Given the description of an element on the screen output the (x, y) to click on. 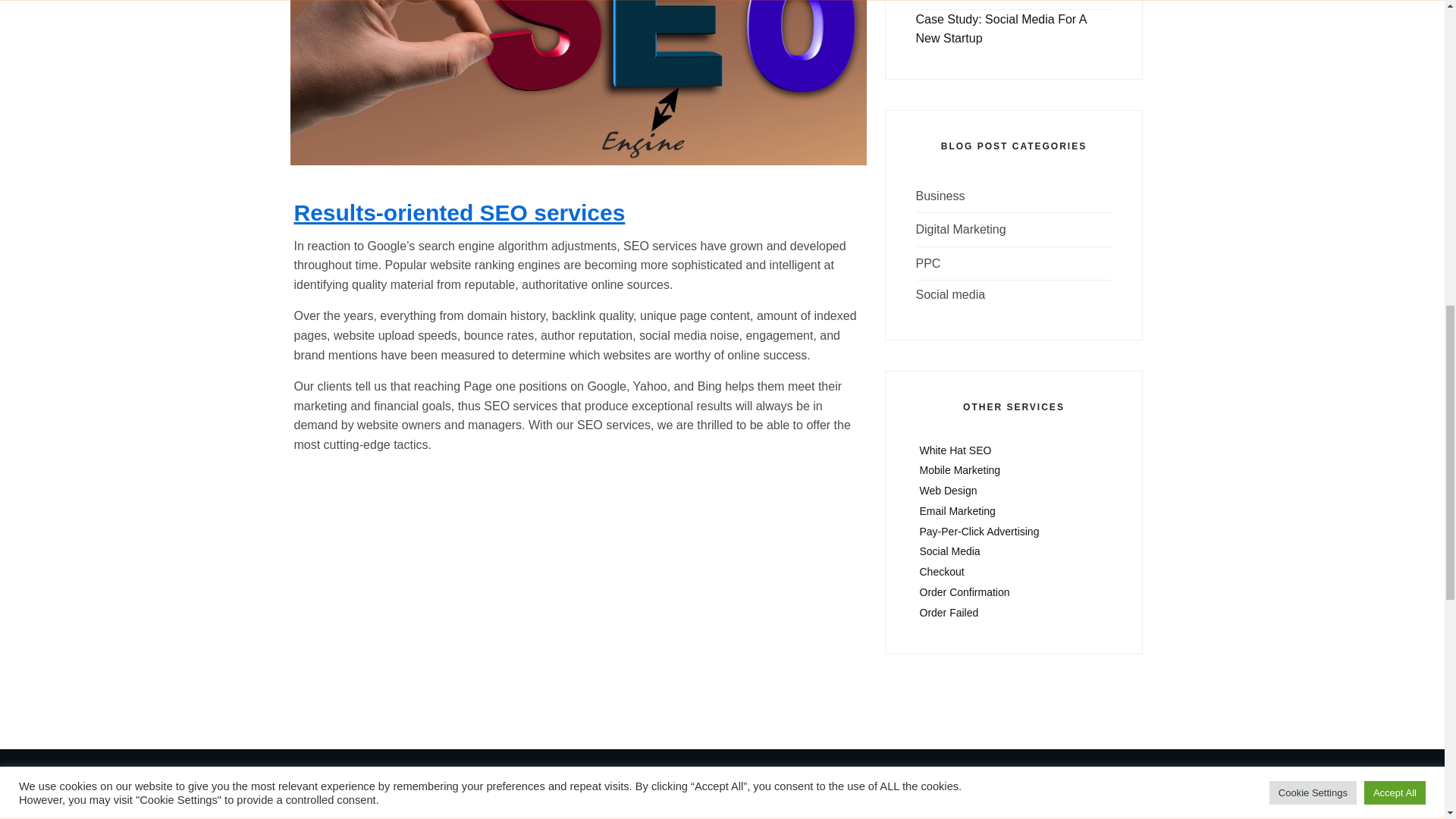
Mobile Marketing (1013, 470)
Search (820, 818)
Order Confirmation (1013, 592)
Order Failed (1013, 612)
Social media (950, 294)
White Hat SEO (1013, 449)
Pay-Per-Click Advertising (1013, 531)
PPC (927, 263)
Case Study: Social Media For A New Startup (1000, 29)
Checkout (1013, 571)
Social Media (1013, 551)
Search (820, 818)
Business (940, 195)
Search (820, 818)
Results-oriented SEO services (460, 212)
